Given the description of an element on the screen output the (x, y) to click on. 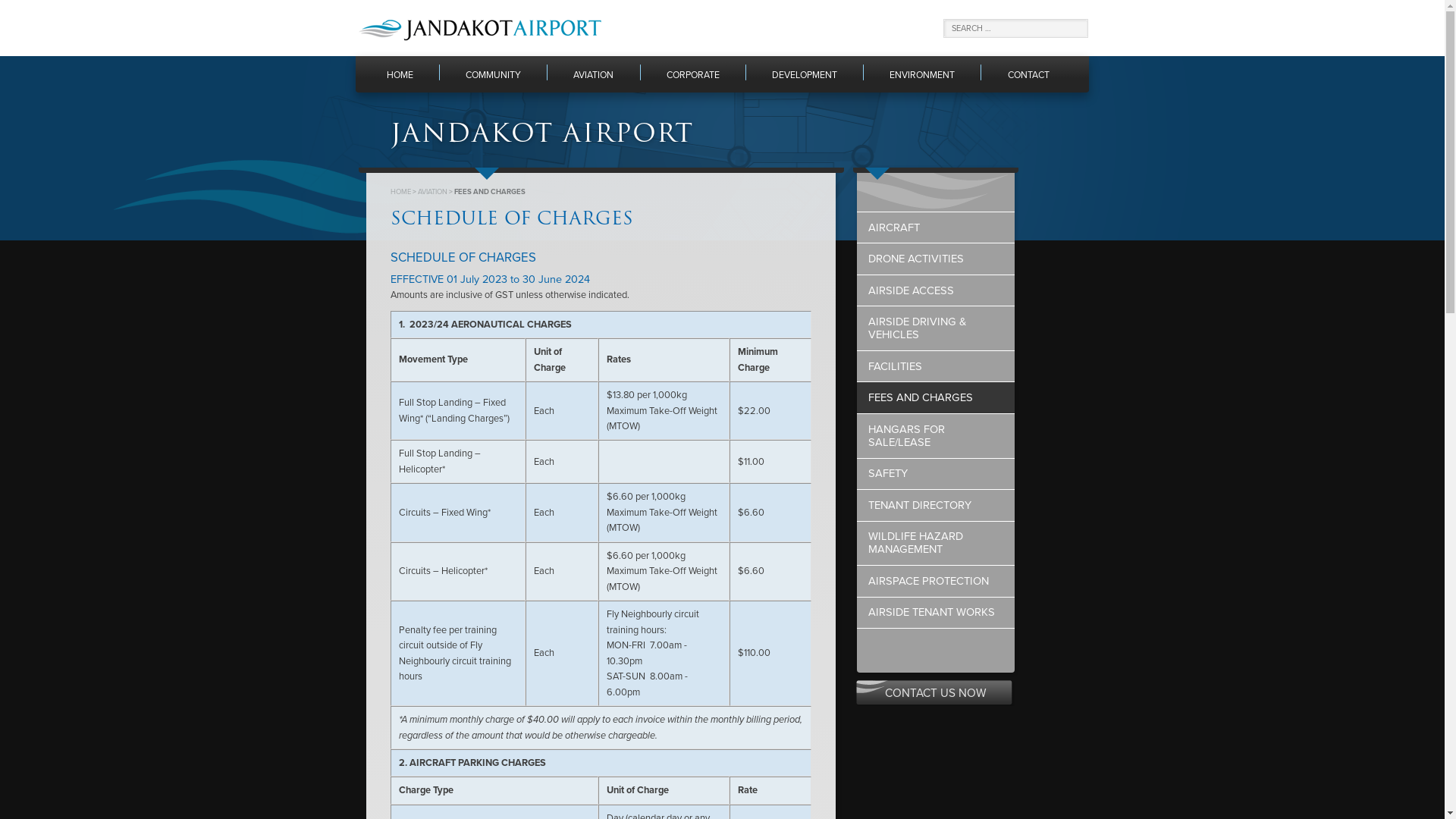
WILDLIFE HAZARD MANAGEMENT Element type: text (934, 543)
AIRCRAFT Element type: text (934, 227)
FEES AND CHARGES Element type: text (934, 397)
DRONE ACTIVITIES Element type: text (934, 258)
COMMUNITY Element type: text (492, 74)
FACILITIES Element type: text (934, 366)
CONTACT US NOW Element type: text (935, 693)
CORPORATE Element type: text (692, 74)
SAFETY Element type: text (934, 473)
AIRSIDE TENANT WORKS Element type: text (934, 612)
CONTACT Element type: text (1027, 74)
DEVELOPMENT Element type: text (804, 74)
ENVIRONMENT Element type: text (921, 74)
AIRSIDE DRIVING & VEHICLES Element type: text (934, 328)
AIRSIDE ACCESS Element type: text (934, 290)
HOME Element type: text (400, 191)
AVIATION Element type: text (432, 191)
HOME Element type: text (399, 74)
AIRSPACE PROTECTION Element type: text (934, 580)
TENANT DIRECTORY Element type: text (934, 504)
AVIATION Element type: text (593, 74)
HANGARS FOR SALE/LEASE Element type: text (934, 436)
